Given the description of an element on the screen output the (x, y) to click on. 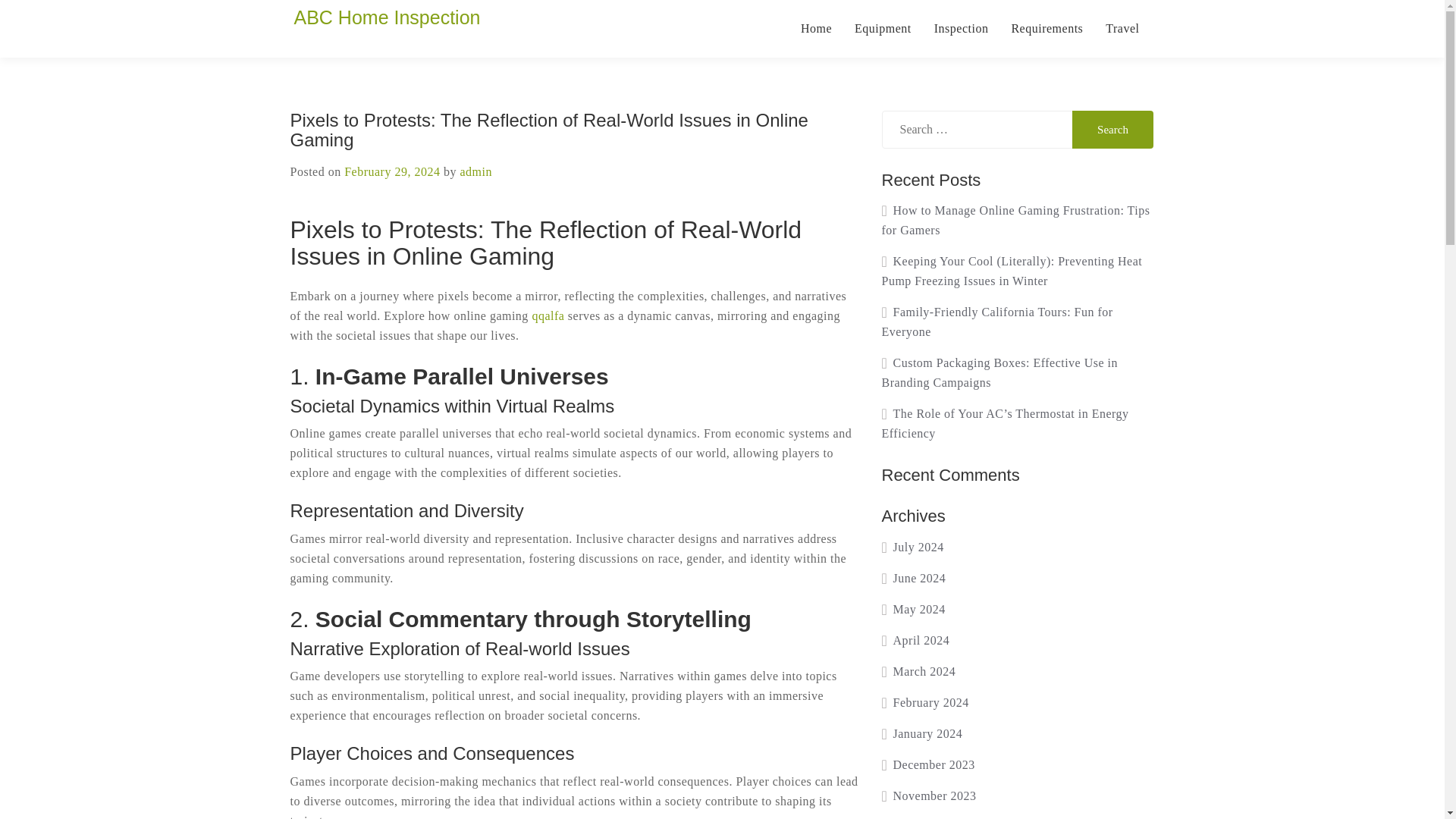
July 2024 (911, 546)
Requirements (1046, 28)
ABC Home Inspection (387, 16)
Equipment (883, 28)
Search (1112, 129)
Inspection (961, 28)
November 2023 (927, 795)
Travel (1122, 28)
Family-Friendly California Tours: Fun for Everyone (996, 321)
Requirements (1046, 28)
qqalfa (547, 315)
Inspection (961, 28)
January 2024 (921, 733)
April 2024 (914, 640)
